Given the description of an element on the screen output the (x, y) to click on. 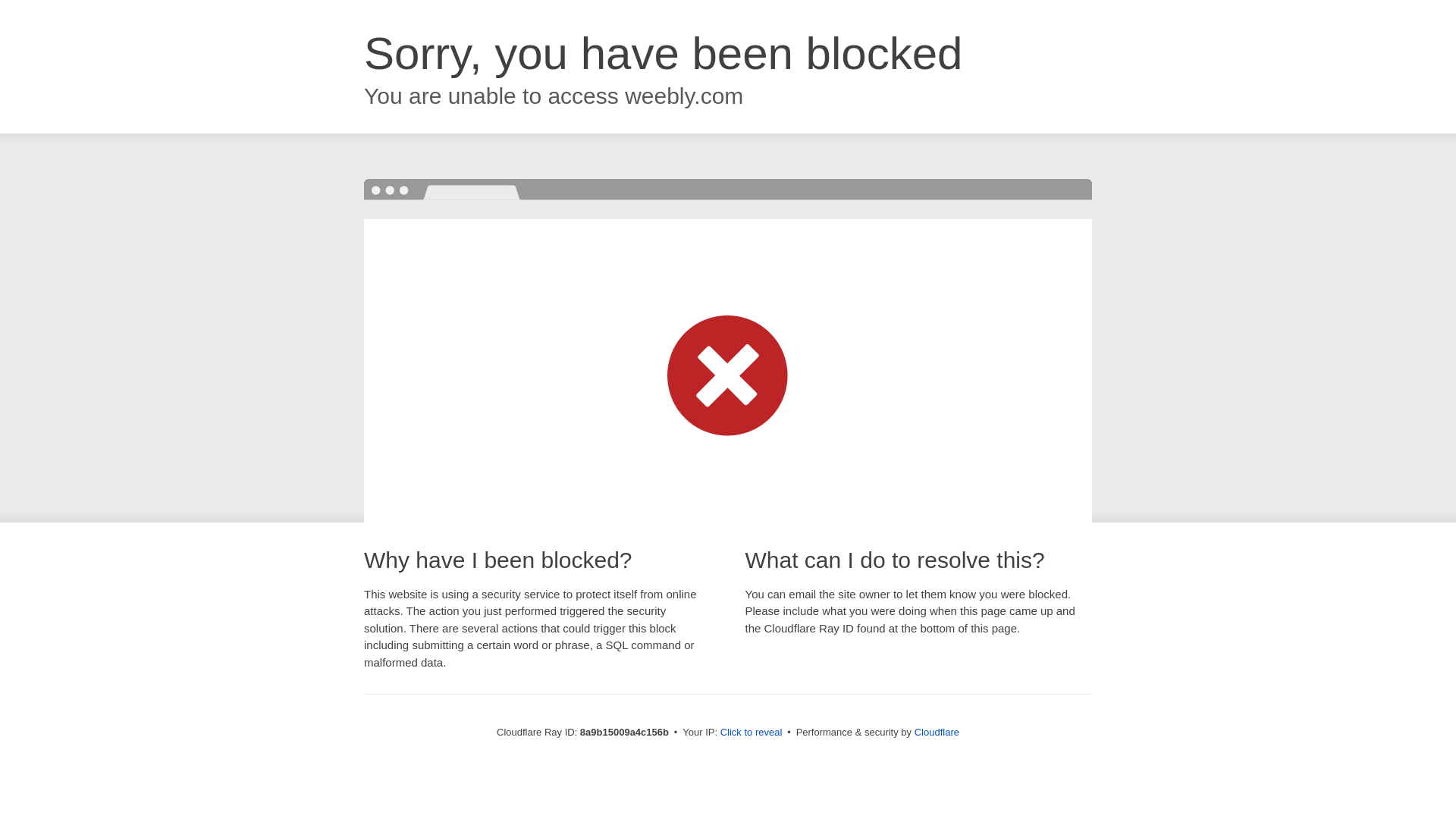
Click to reveal (751, 732)
Cloudflare (936, 731)
